Given the description of an element on the screen output the (x, y) to click on. 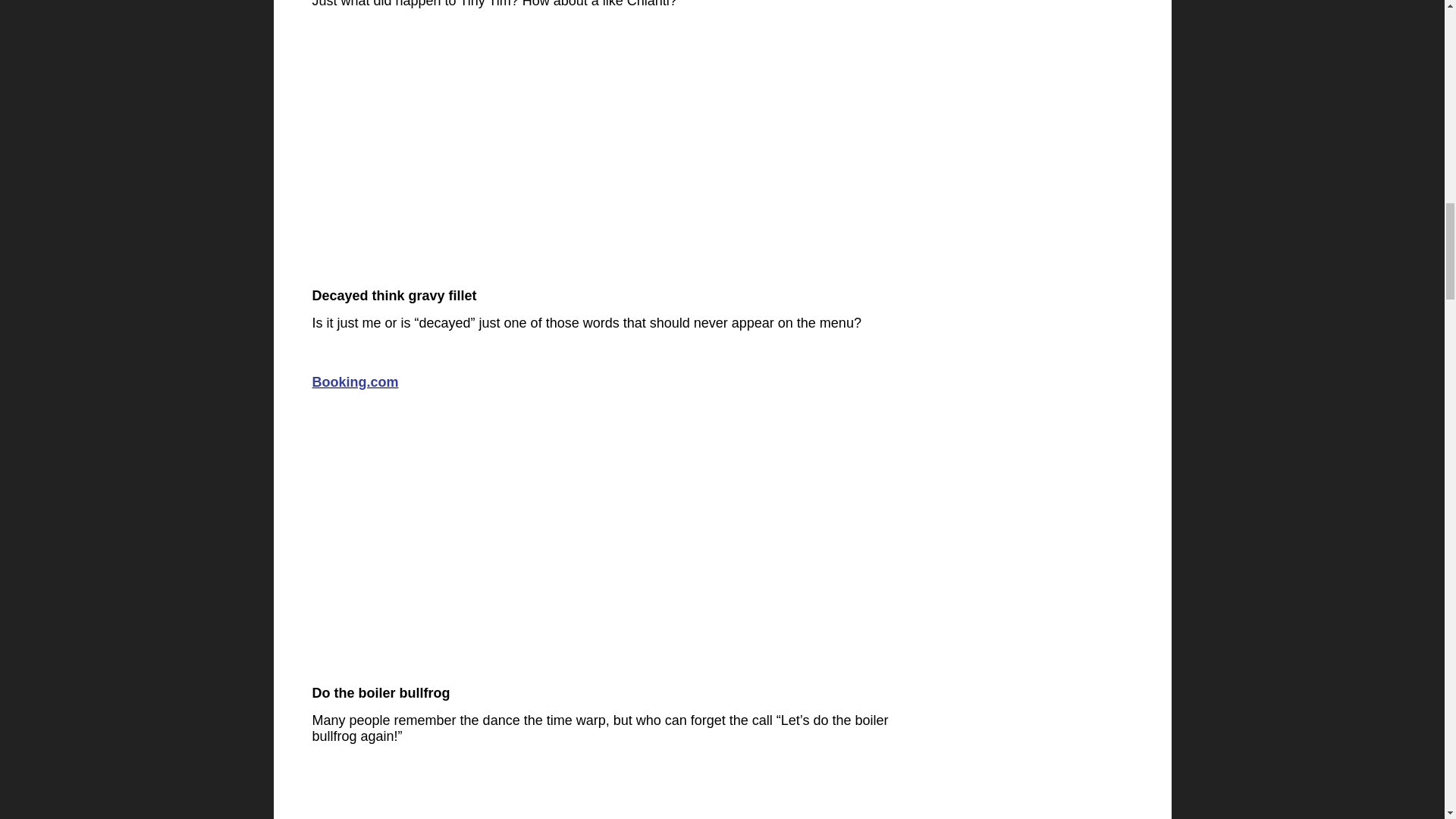
Booking.com (355, 381)
